Given the description of an element on the screen output the (x, y) to click on. 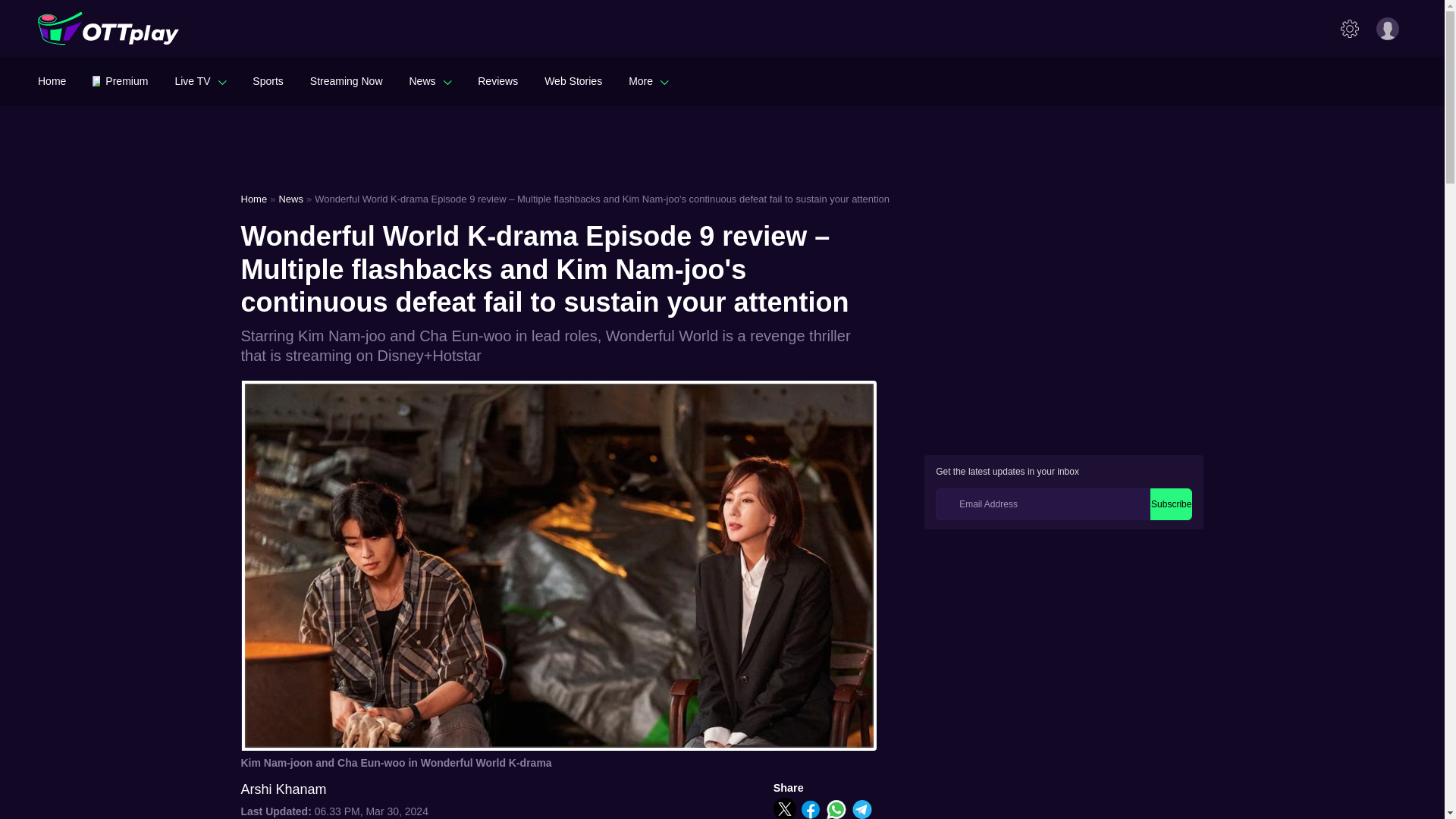
Streaming Now (346, 80)
Live TV (199, 80)
Premium (120, 80)
News (430, 80)
Web Stories (573, 80)
